Given the description of an element on the screen output the (x, y) to click on. 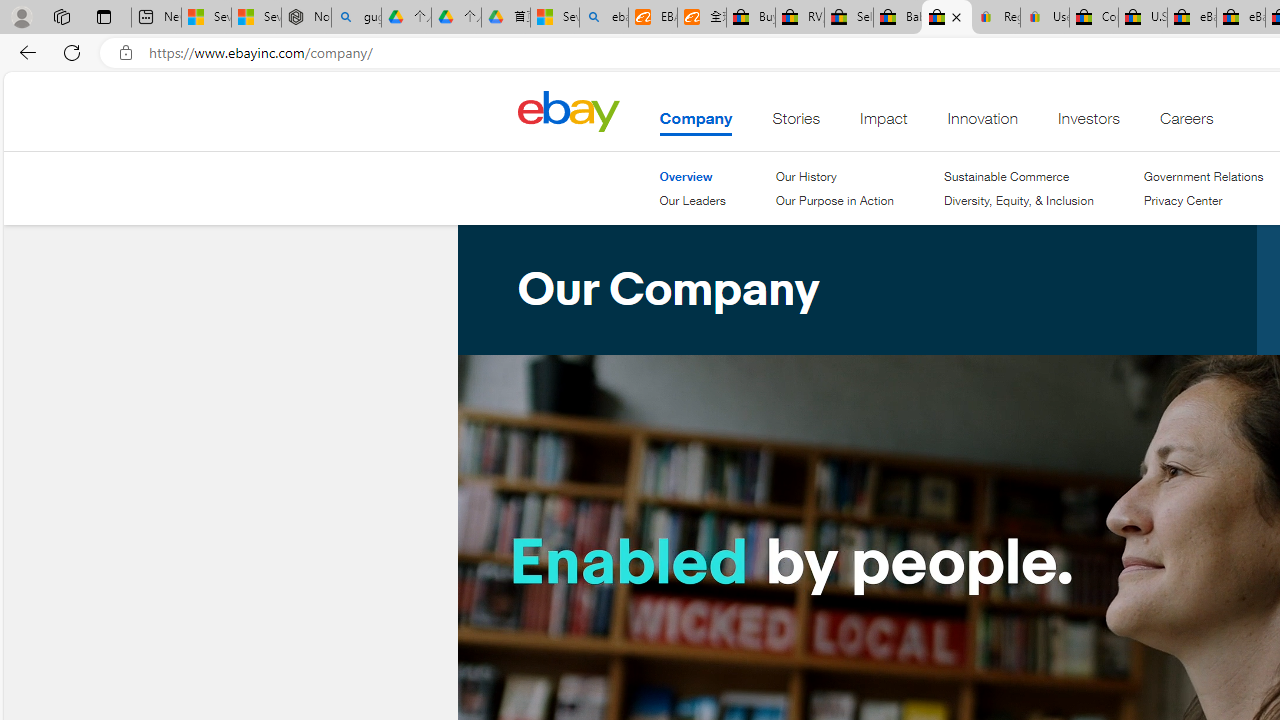
Our History (833, 176)
Our Leaders (692, 200)
Baby Keepsakes & Announcements for sale | eBay (897, 17)
Government Relations (1203, 176)
Investors (1089, 123)
Overview (685, 176)
U.S. State Privacy Disclosures - eBay Inc. (1142, 17)
Buy Auto Parts & Accessories | eBay (750, 17)
Innovation (982, 123)
Sustainable Commerce (1007, 176)
Our Purpose in Action (833, 200)
Our History (805, 176)
RV, Trailer & Camper Steps & Ladders for sale | eBay (799, 17)
